Given the description of an element on the screen output the (x, y) to click on. 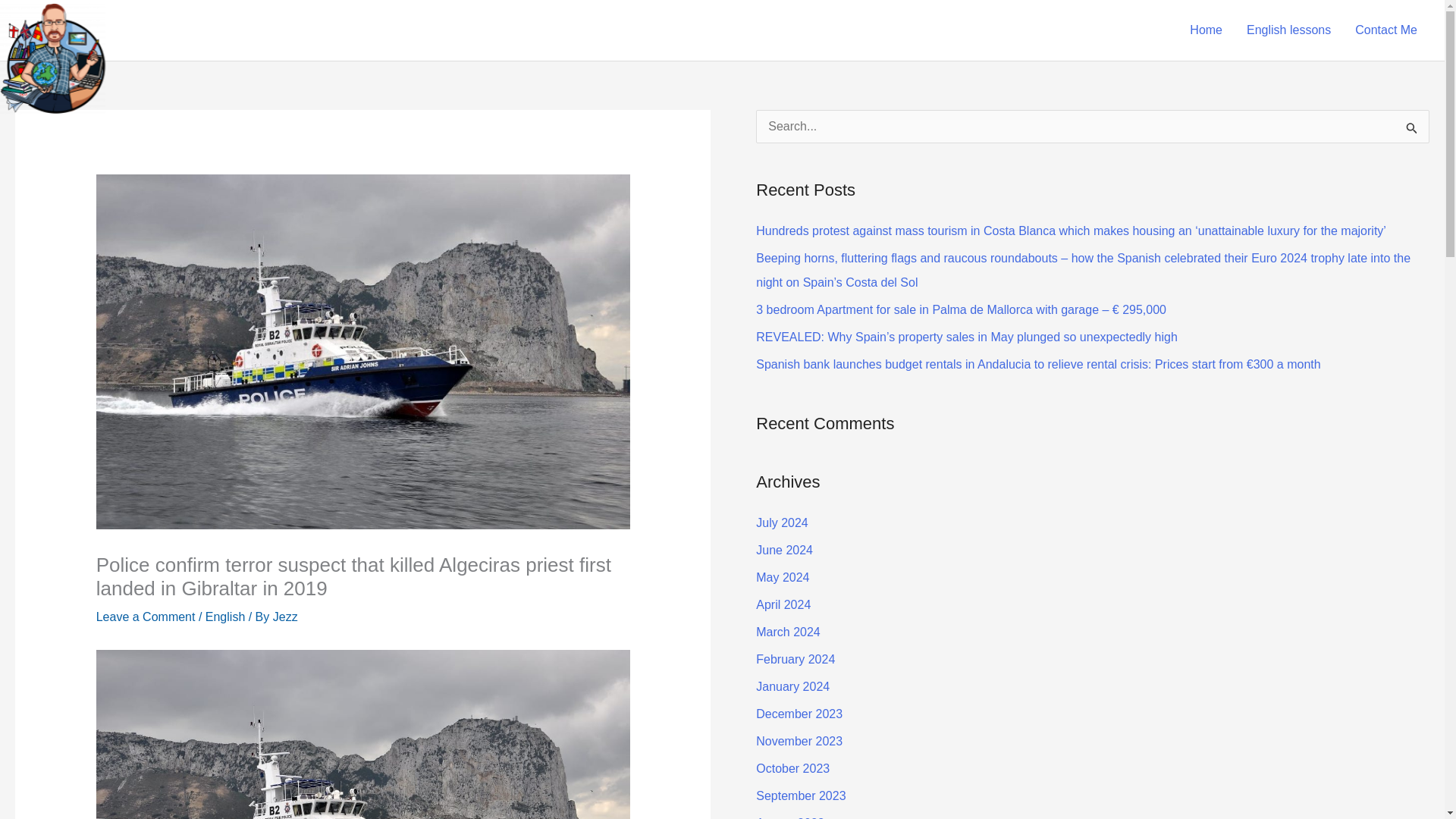
February 2024 (794, 658)
Home (1205, 30)
January 2024 (792, 686)
July 2024 (781, 522)
March 2024 (788, 631)
Jezz (285, 616)
May 2024 (782, 576)
View all posts by Jezz (285, 616)
June 2024 (783, 549)
April 2024 (782, 604)
Contact Me (1385, 30)
August 2023 (789, 817)
December 2023 (799, 713)
English lessons (1288, 30)
Leave a Comment (145, 616)
